Given the description of an element on the screen output the (x, y) to click on. 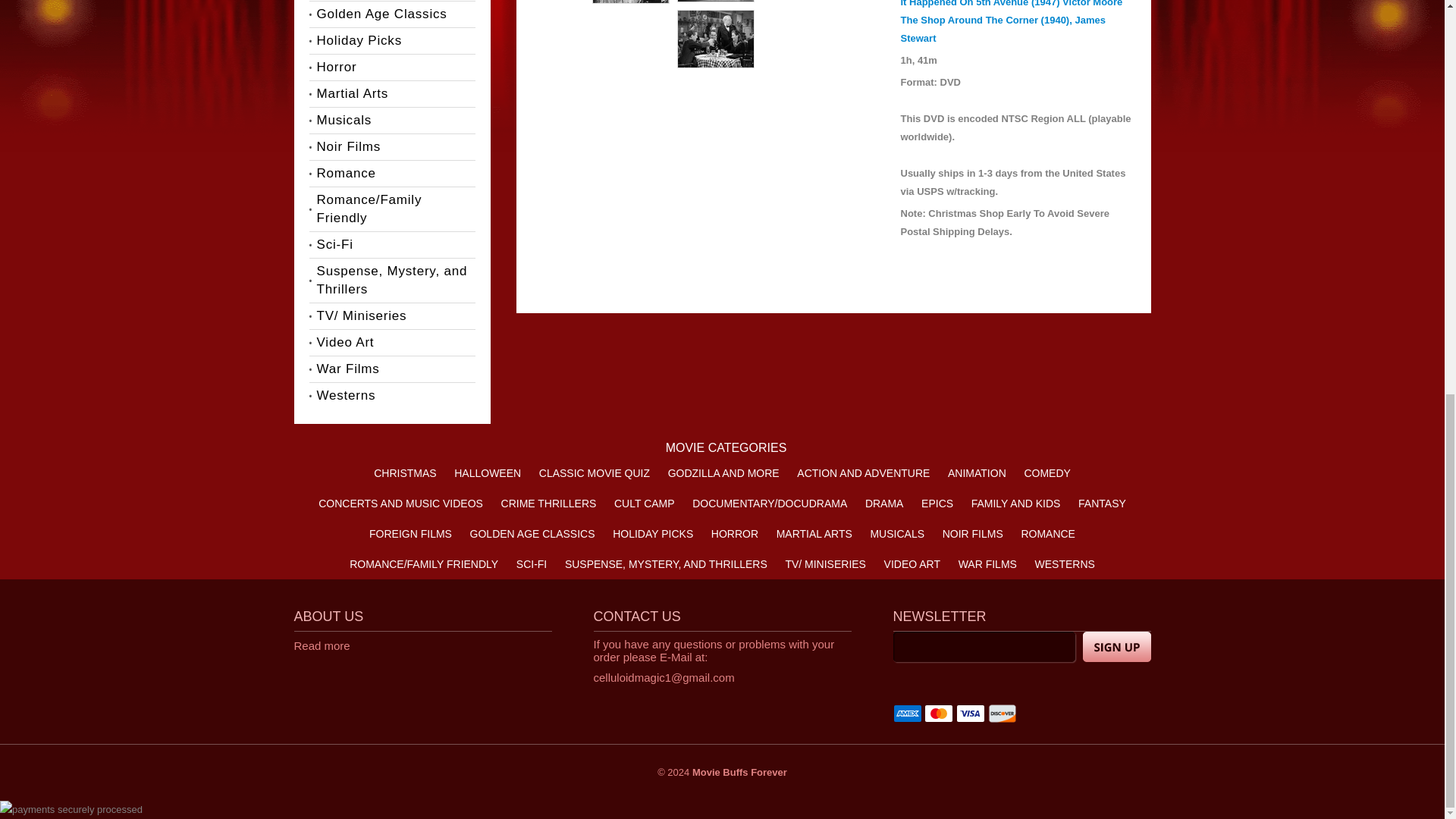
American Express (907, 713)
Mastercard (938, 713)
Visa (970, 713)
